Given the description of an element on the screen output the (x, y) to click on. 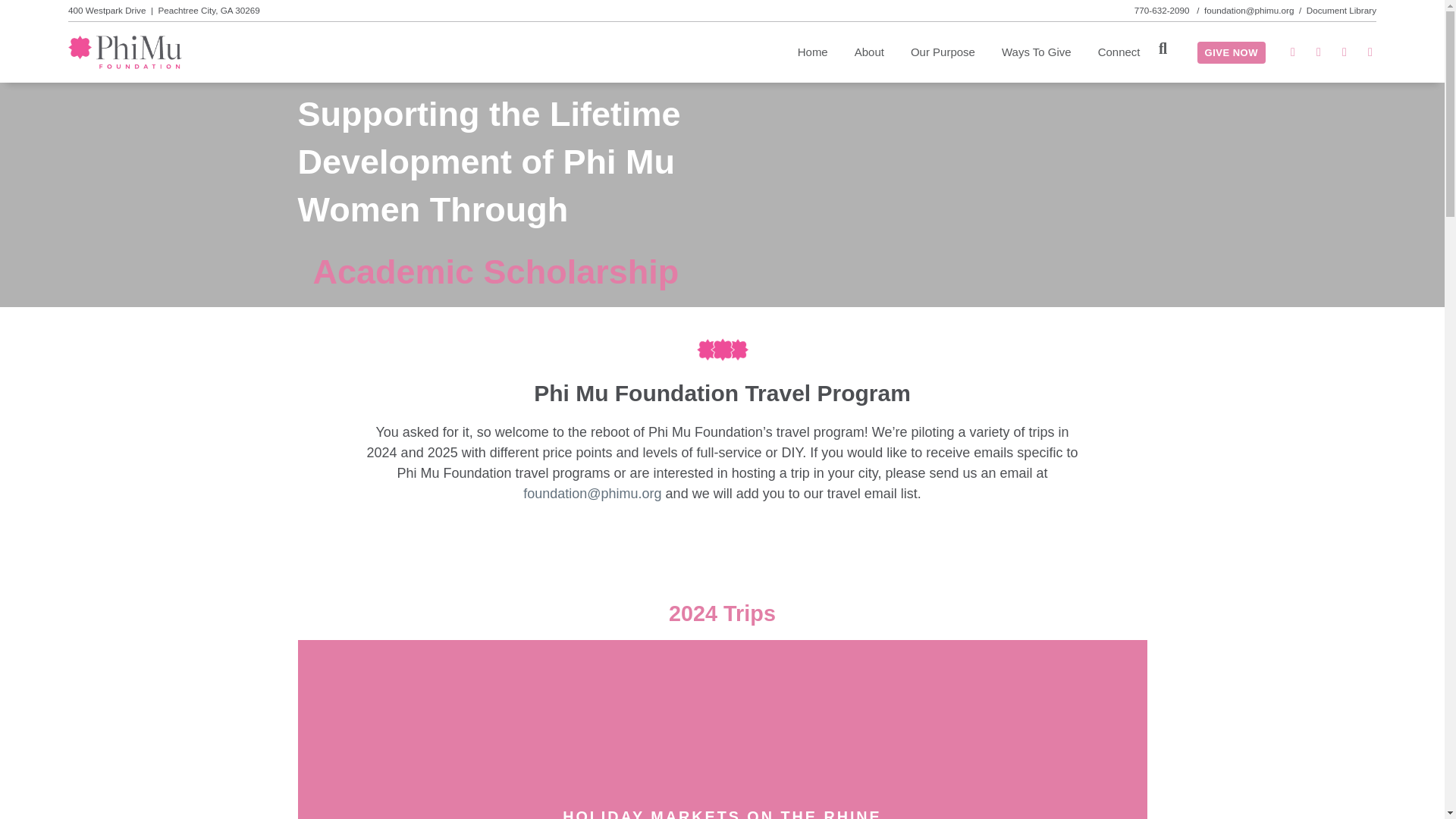
Ways To Give (1036, 52)
About (868, 52)
Home (812, 52)
Our Purpose (943, 52)
770-632-2090 (1163, 9)
GIVE NOW (1230, 52)
Connect (1118, 52)
Document Library (1340, 9)
